Given the description of an element on the screen output the (x, y) to click on. 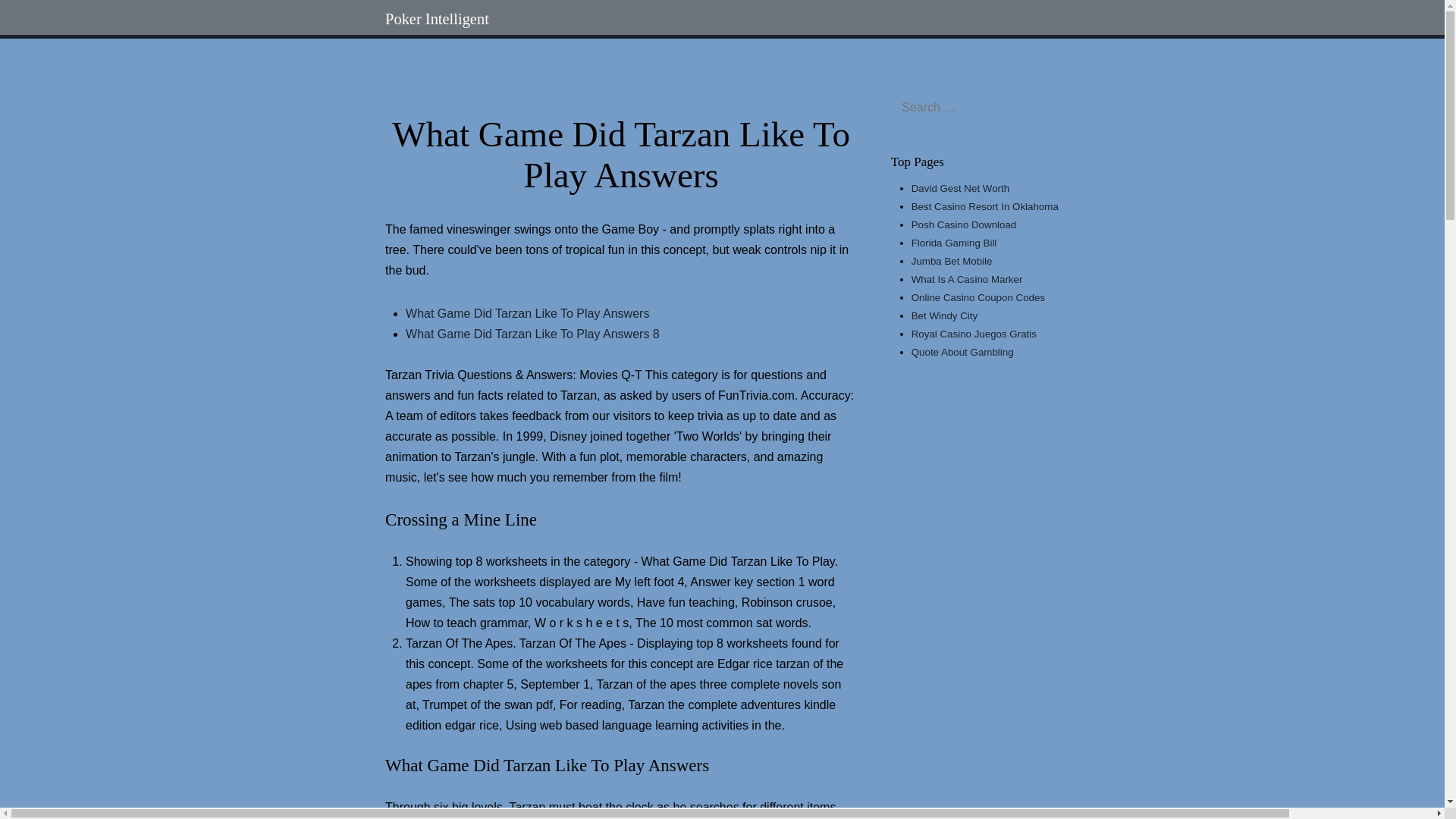
Florida Gaming Bill (954, 242)
What Is A Casino Marker (967, 279)
Bet Windy City (943, 315)
Quote About Gambling (962, 351)
Best Casino Resort In Oklahoma (984, 206)
Poker Intelligent (437, 18)
Posh Casino Download (963, 224)
Jumba Bet Mobile (951, 260)
What Game Did Tarzan Like To Play Answers 8 (532, 333)
Royal Casino Juegos Gratis (973, 333)
David Gest Net Worth (960, 188)
Search (722, 19)
Online Casino Coupon Codes (978, 297)
What Game Did Tarzan Like To Play Answers (527, 313)
